Given the description of an element on the screen output the (x, y) to click on. 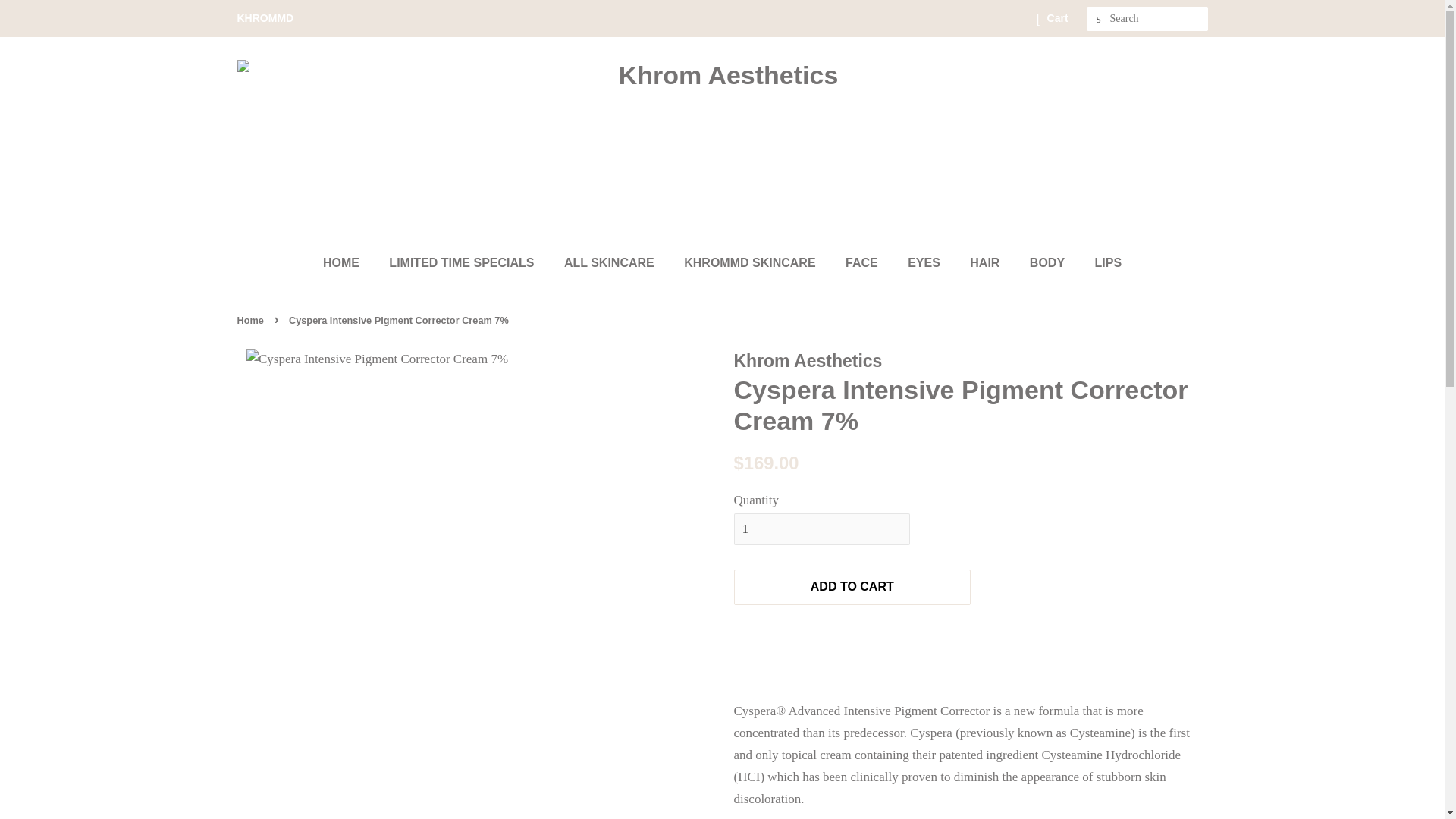
KHROMMD SKINCARE (750, 262)
Back to the frontpage (250, 319)
EYES (925, 262)
ADD TO CART (852, 587)
1 (821, 529)
BODY (1048, 262)
LIPS (1102, 262)
Cart (1057, 18)
HAIR (986, 262)
LIMITED TIME SPECIALS (462, 262)
Home (250, 319)
SEARCH (1097, 18)
ALL SKINCARE (611, 262)
HOME (348, 262)
FACE (863, 262)
